Given the description of an element on the screen output the (x, y) to click on. 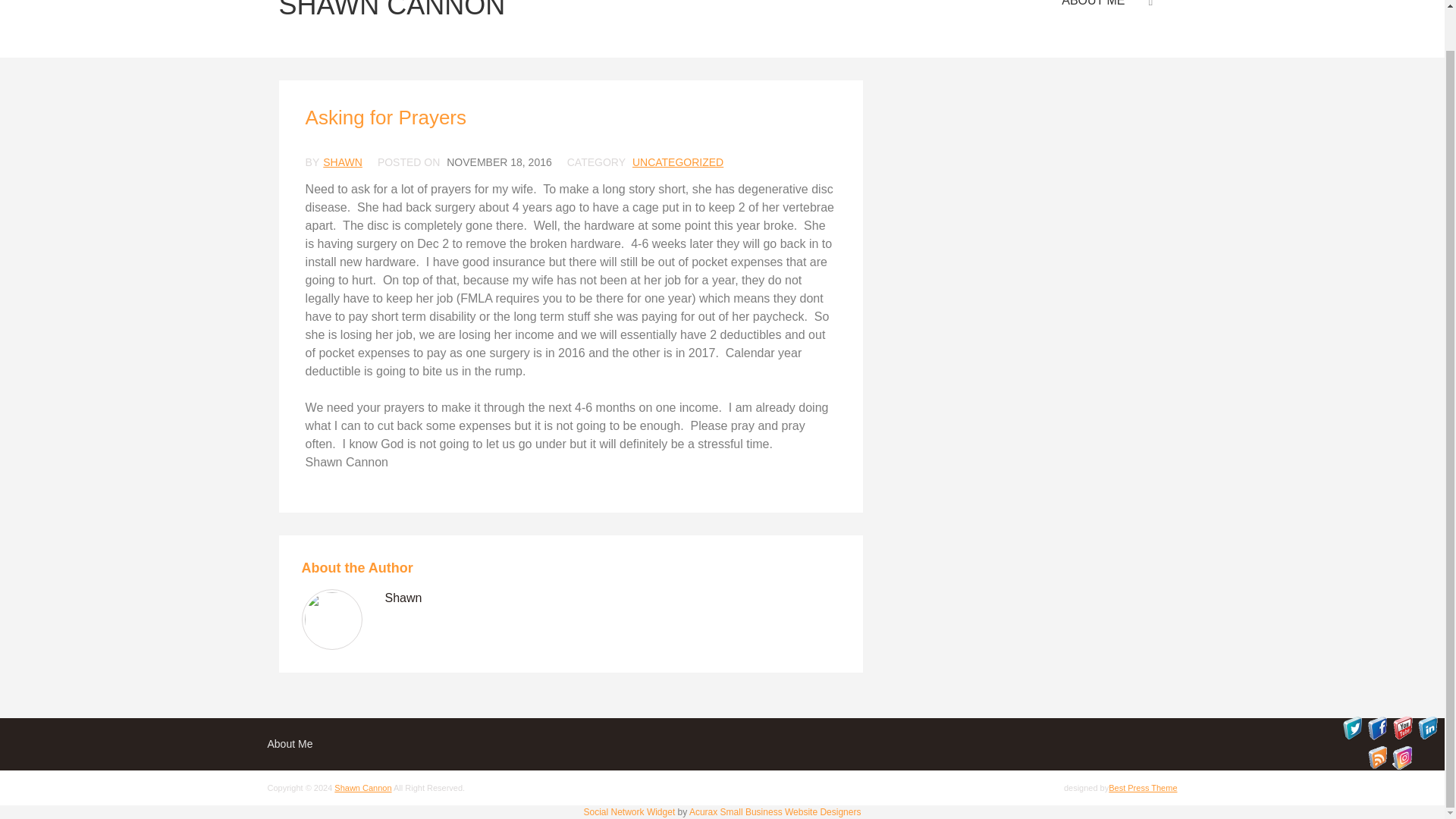
Visit Us On Linkedin (1427, 735)
ABOUT ME (1093, 8)
Acurax Small Business Website Designers (774, 811)
Visit Us On Instagram (1401, 765)
Shawn Cannon (362, 787)
Social Network Widget (629, 811)
Search (1139, 26)
SHAWN CANNON (392, 20)
UNCATEGORIZED (677, 162)
Posts by Shawn (403, 597)
Visit Us On Twitter (1351, 735)
Check Our Feed (1377, 765)
Shawn (403, 597)
About Me (289, 743)
Visit Us On Facebook (1377, 735)
